Given the description of an element on the screen output the (x, y) to click on. 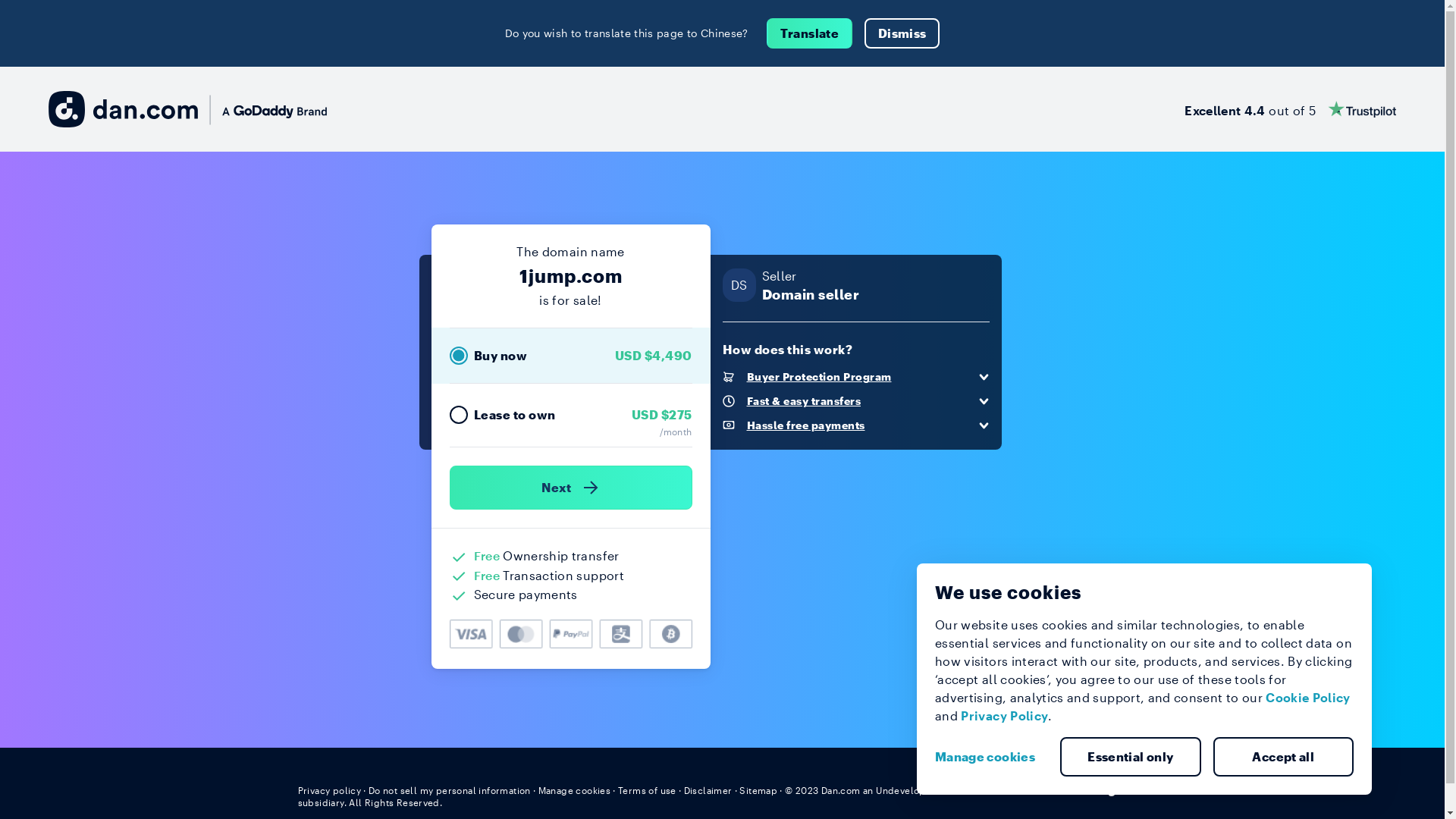
Next
) Element type: text (569, 487)
Excellent 4.4 out of 5 Element type: text (1290, 109)
Disclaimer Element type: text (708, 789)
Privacy Policy Element type: text (1004, 715)
Translate Element type: text (809, 33)
Cookie Policy Element type: text (1307, 697)
Dismiss Element type: text (901, 33)
English Element type: text (1119, 789)
Manage cookies Element type: text (991, 756)
Privacy policy Element type: text (328, 789)
Sitemap Element type: text (758, 789)
Accept all Element type: text (1283, 756)
Terms of use Element type: text (647, 789)
Essential only Element type: text (1130, 756)
Do not sell my personal information Element type: text (449, 789)
Manage cookies Element type: text (574, 790)
